Given the description of an element on the screen output the (x, y) to click on. 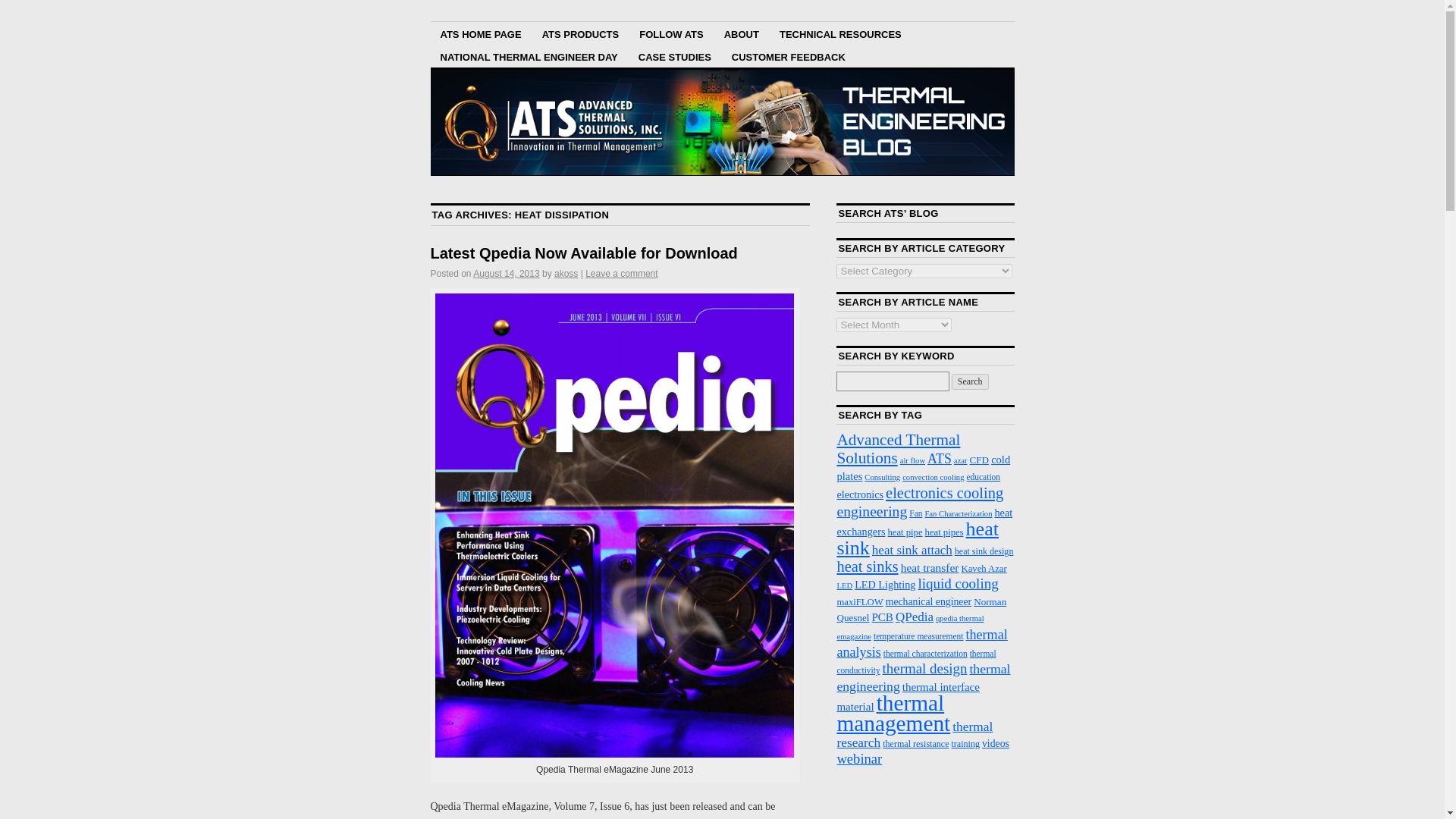
1:27 pm (505, 273)
View all posts by akoss (566, 273)
ATS PRODUCTS (580, 33)
FOLLOW ATS (670, 33)
Search (970, 381)
TECHNICAL RESOURCES (840, 33)
ATS HOME PAGE (480, 33)
ABOUT (741, 33)
